Given the description of an element on the screen output the (x, y) to click on. 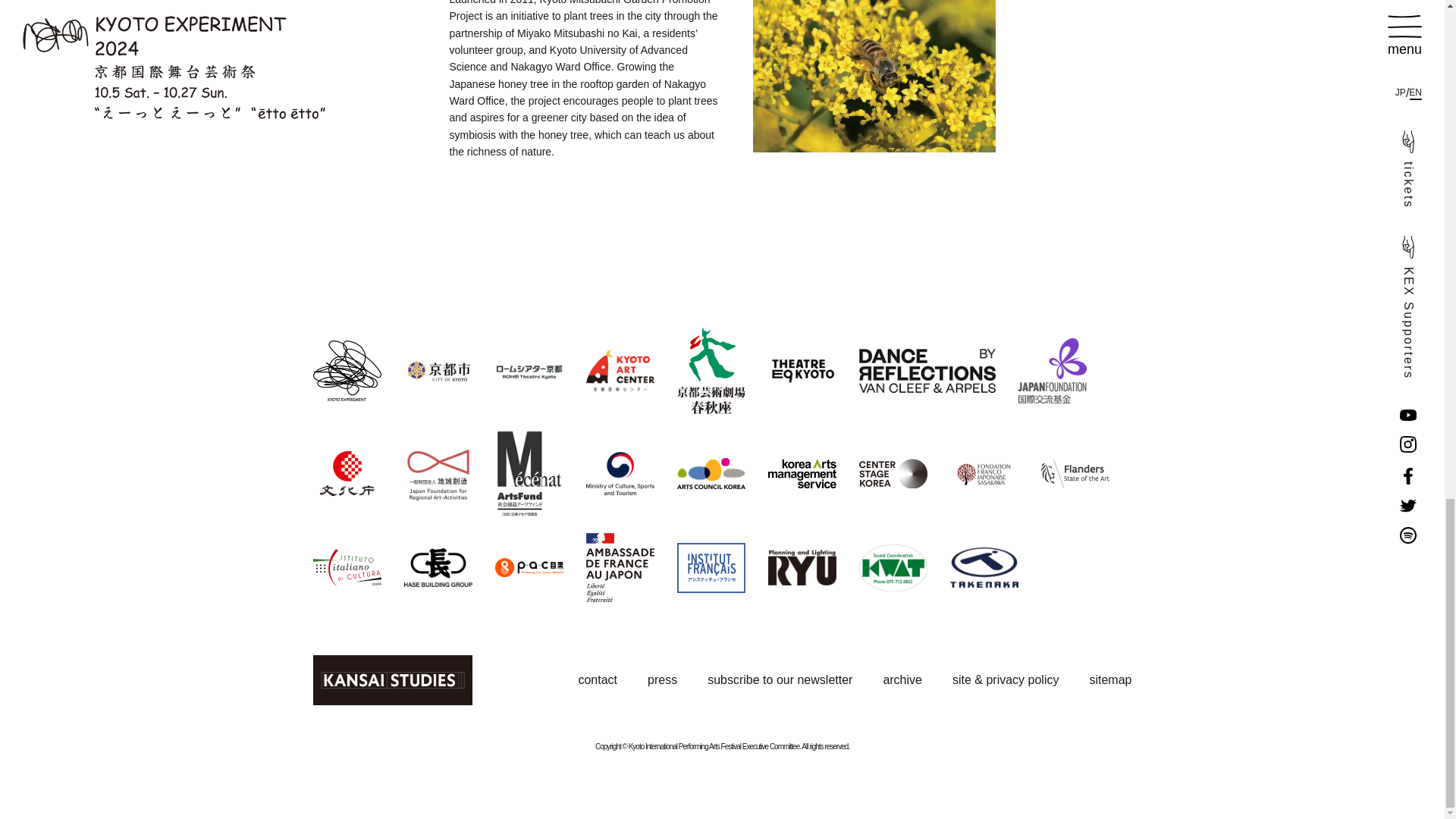
subscribe to our newsletter (779, 680)
contact (597, 680)
archive (901, 680)
sitemap (1110, 680)
press (662, 680)
